Given the description of an element on the screen output the (x, y) to click on. 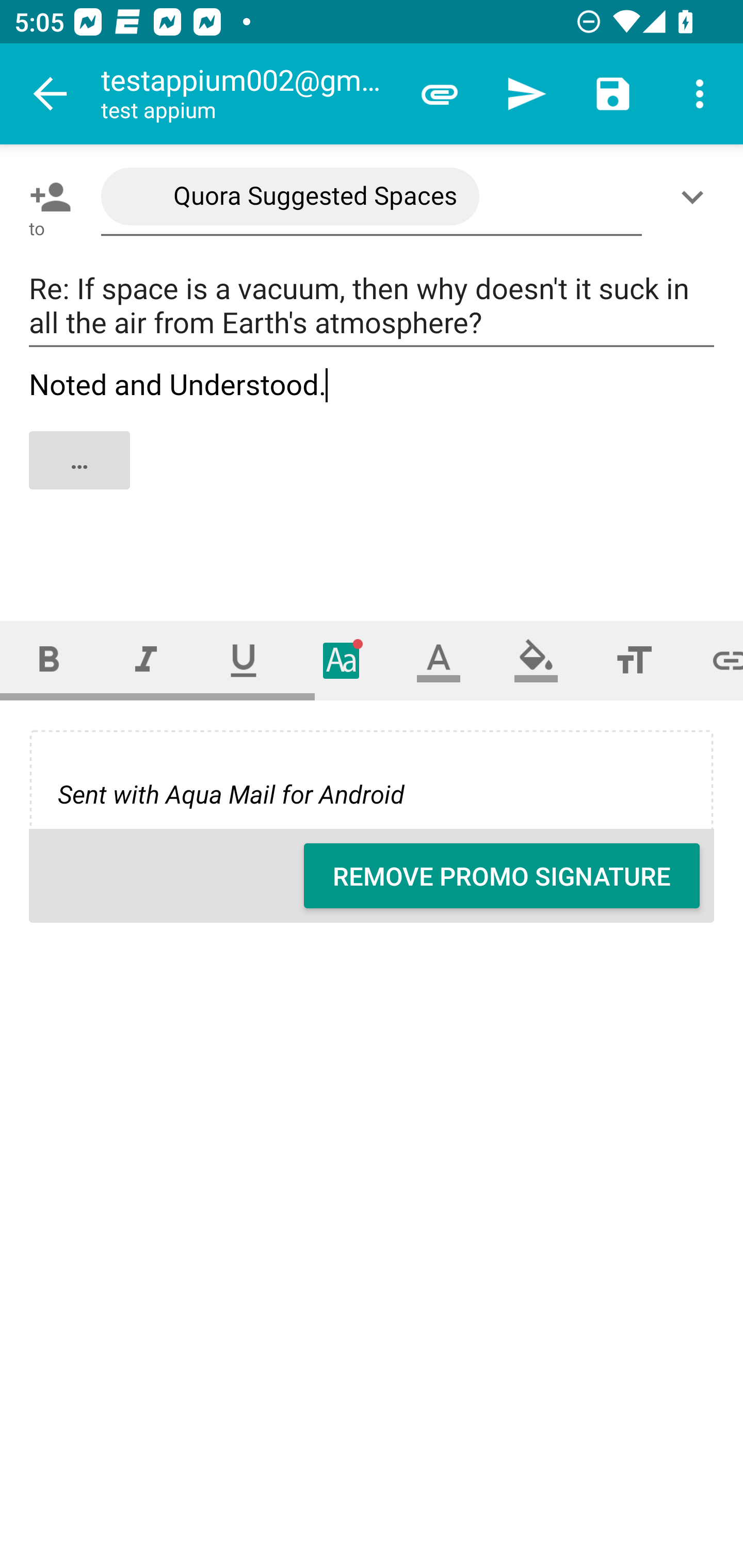
Navigate up (50, 93)
testappium002@gmail.com test appium (248, 93)
Attach (439, 93)
Send (525, 93)
Save (612, 93)
More options (699, 93)
Pick contact: To (46, 196)
Show/Add CC/BCC (696, 196)
Noted and Understood.
…
 (372, 477)
Bold (48, 660)
Italic (145, 660)
Underline (243, 660)
Typeface (font) (341, 660)
Text color (438, 660)
Fill color (536, 660)
Font size (633, 660)
Set link (712, 660)
REMOVE PROMO SIGNATURE (501, 875)
